Given the description of an element on the screen output the (x, y) to click on. 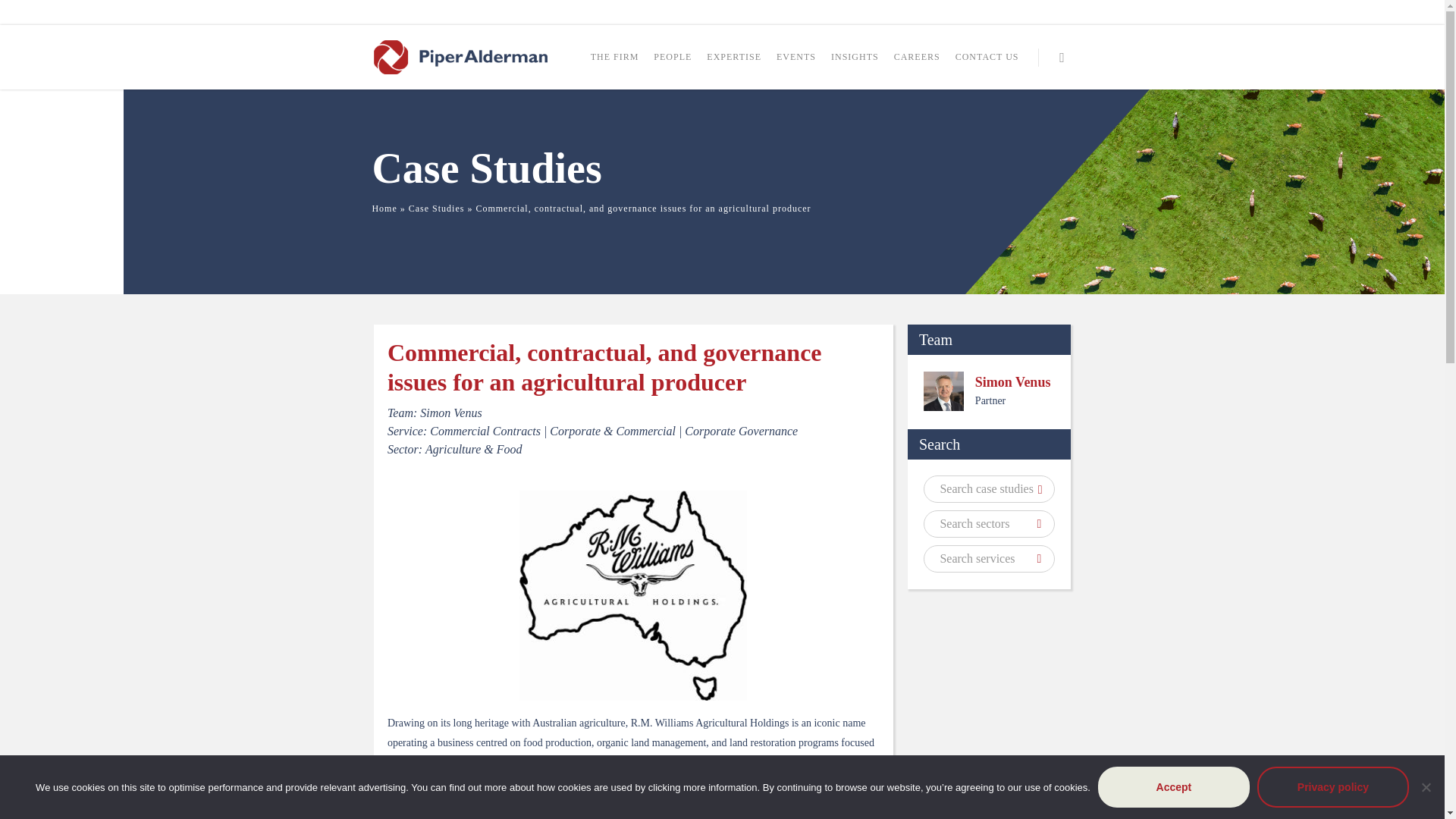
PEOPLE (672, 64)
THE FIRM (615, 64)
EXPERTISE (733, 64)
